Given the description of an element on the screen output the (x, y) to click on. 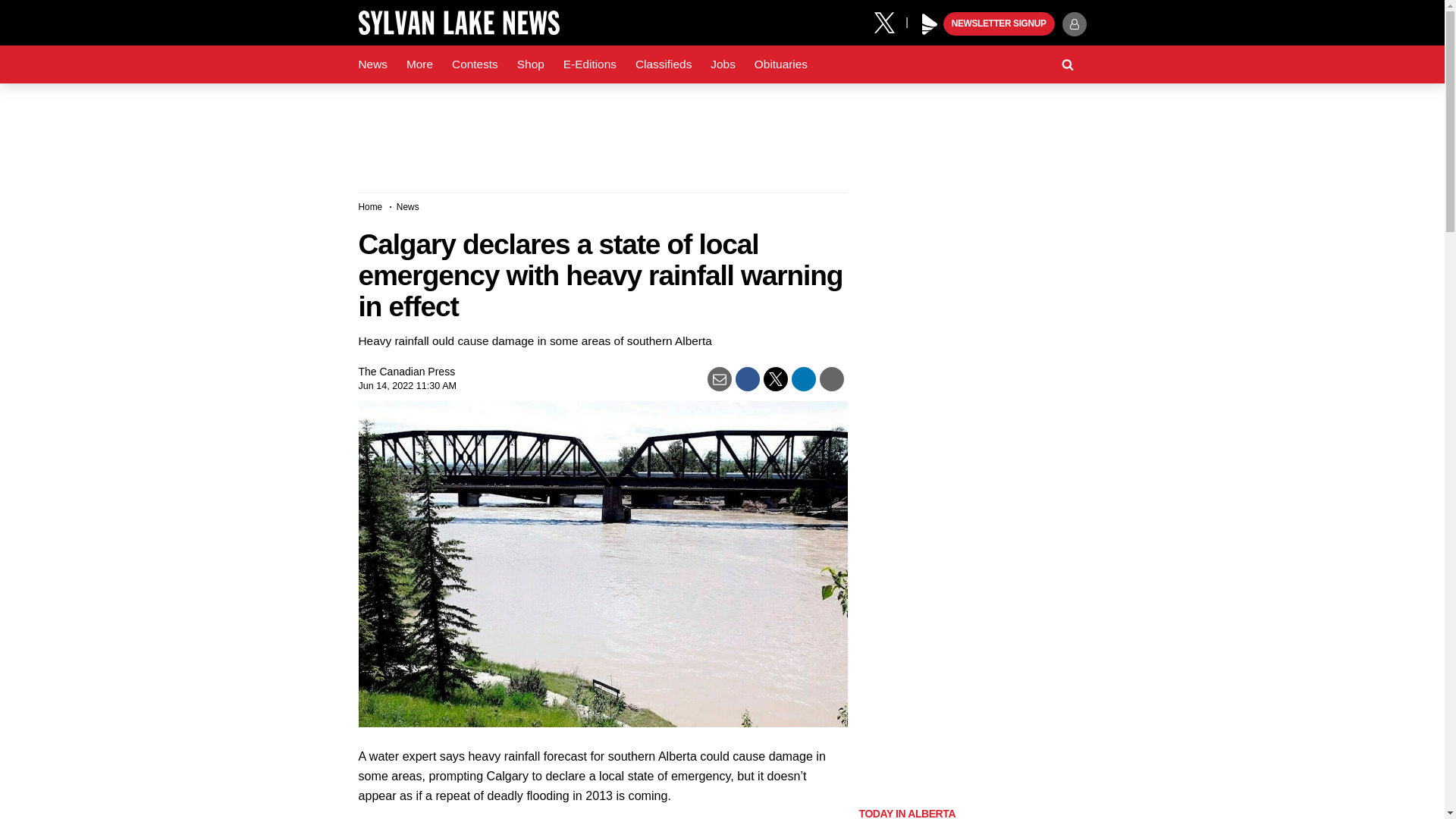
Black Press Media (929, 24)
X (889, 21)
News (372, 64)
NEWSLETTER SIGNUP (998, 24)
Play (929, 24)
